Given the description of an element on the screen output the (x, y) to click on. 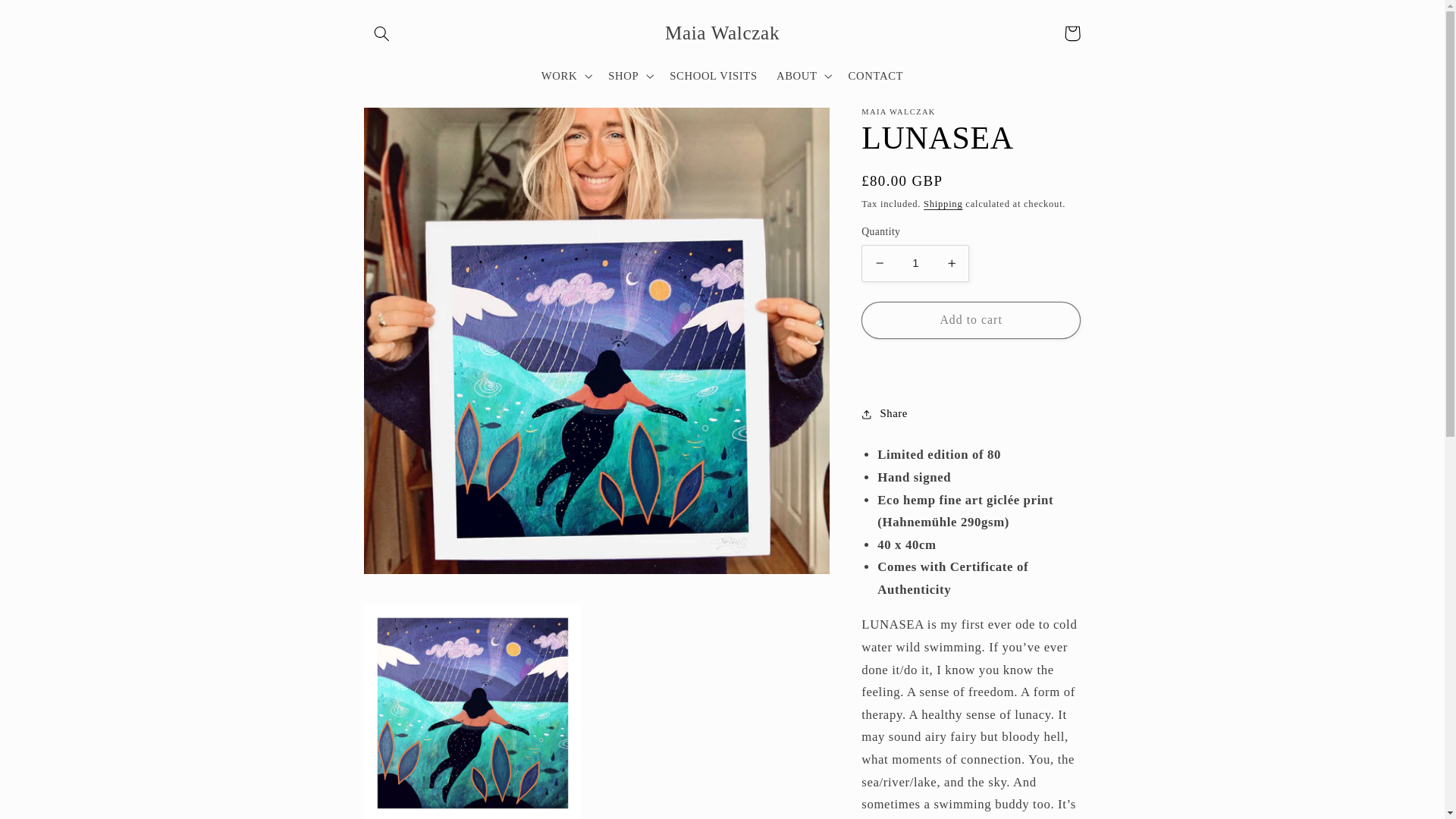
CONTACT (875, 75)
Skip to content (48, 18)
1 (915, 262)
SCHOOL VISITS (714, 75)
Maia Walczak (722, 33)
Cart (1071, 32)
